Given the description of an element on the screen output the (x, y) to click on. 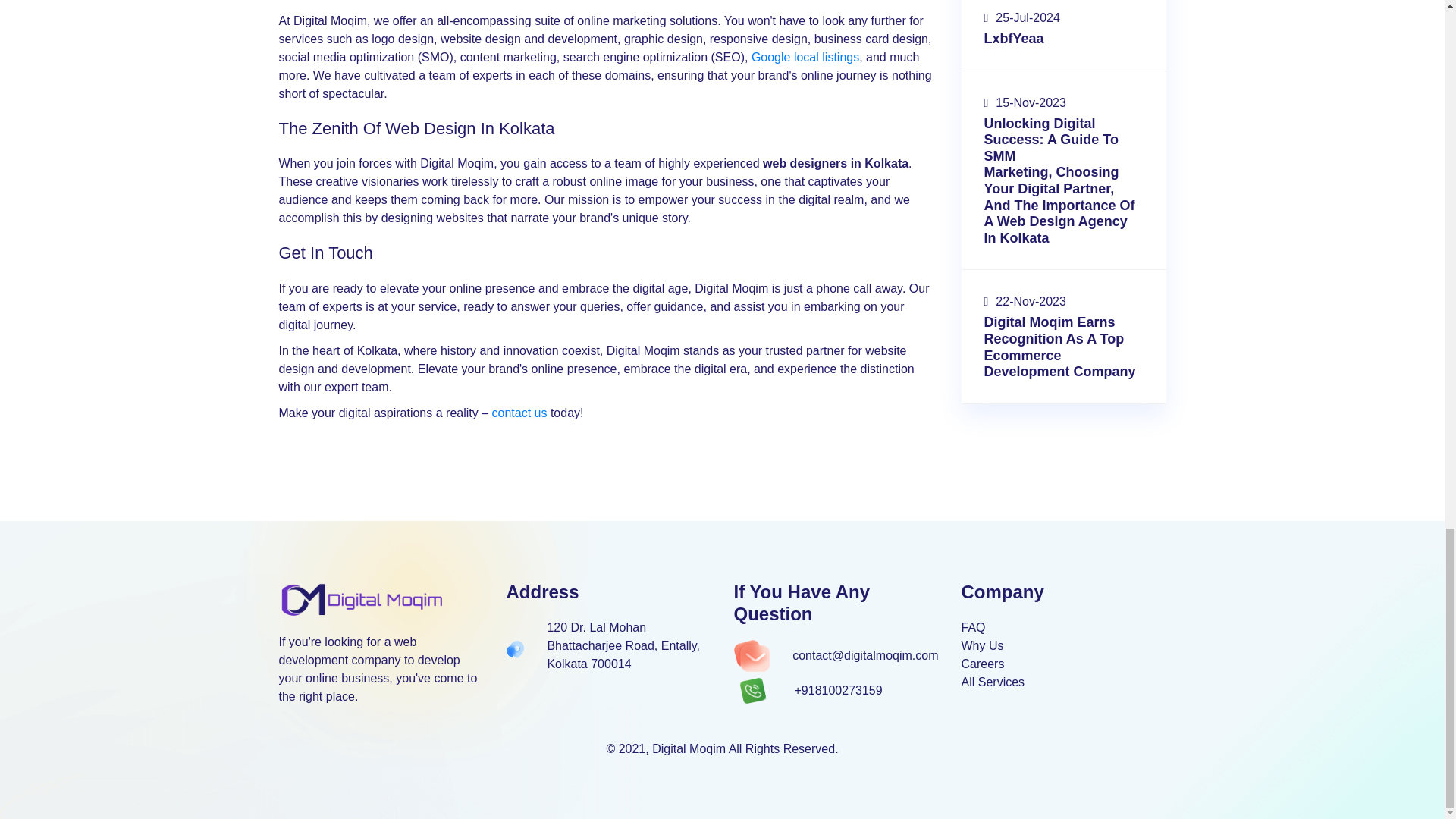
contact us (519, 412)
Google local listings (805, 56)
